Given the description of an element on the screen output the (x, y) to click on. 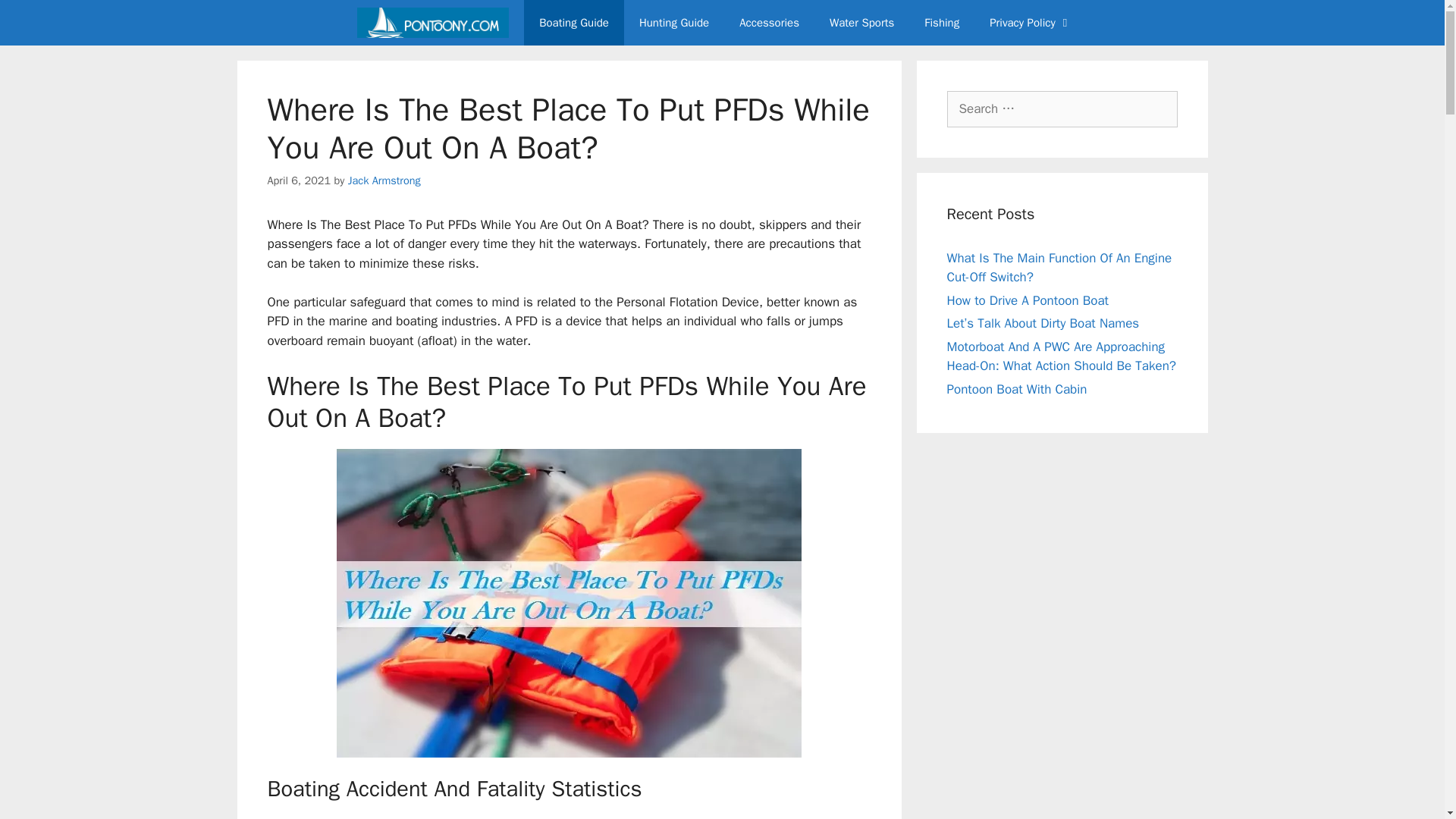
Accessories (768, 22)
Privacy Policy (1030, 22)
Search (35, 18)
How to Drive A Pontoon Boat (1027, 300)
Fishing (941, 22)
What Is The Main Function Of An Engine Cut-Off Switch? (1059, 267)
Jack Armstrong (383, 180)
Hunting Guide (673, 22)
Pontoon Boat With Cabin (1016, 388)
